Given the description of an element on the screen output the (x, y) to click on. 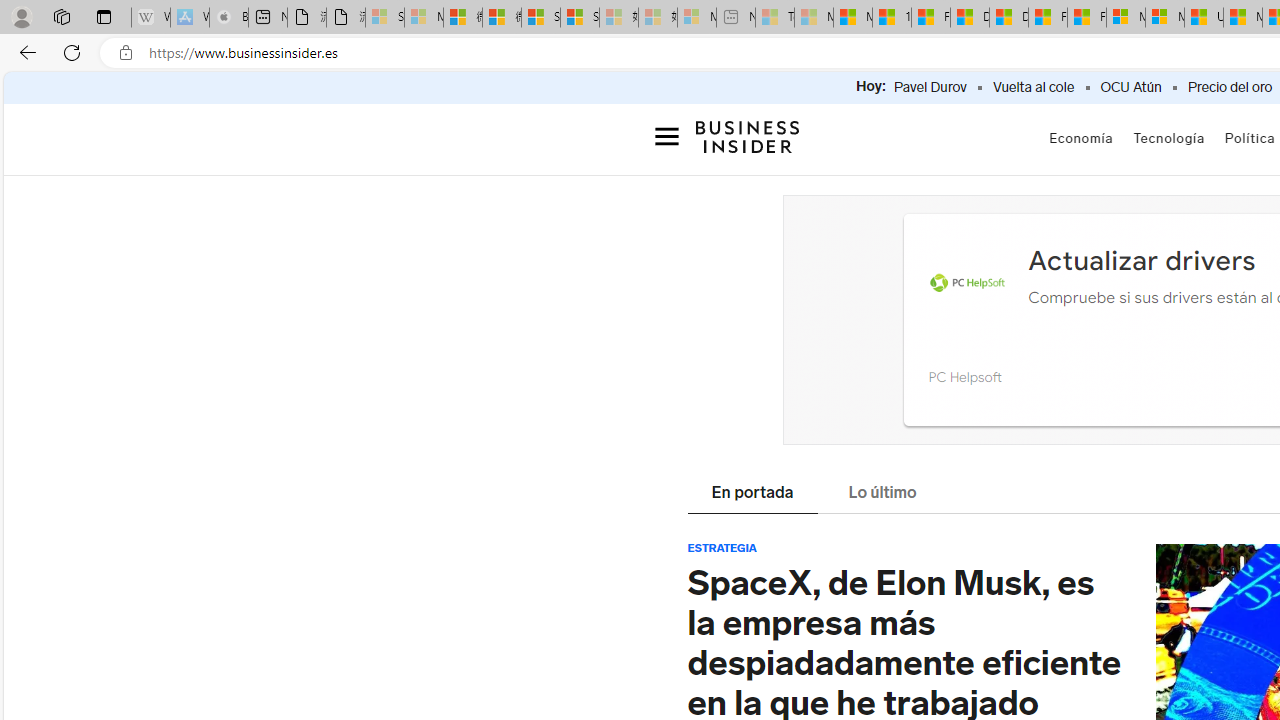
Food and Drink - MSN (930, 17)
En portada (752, 494)
Pavel Durov (929, 88)
Microsoft account | Account Checkup - Sleeping (696, 17)
Buy iPad - Apple - Sleeping (228, 17)
Marine life - MSN - Sleeping (813, 17)
